Given the description of an element on the screen output the (x, y) to click on. 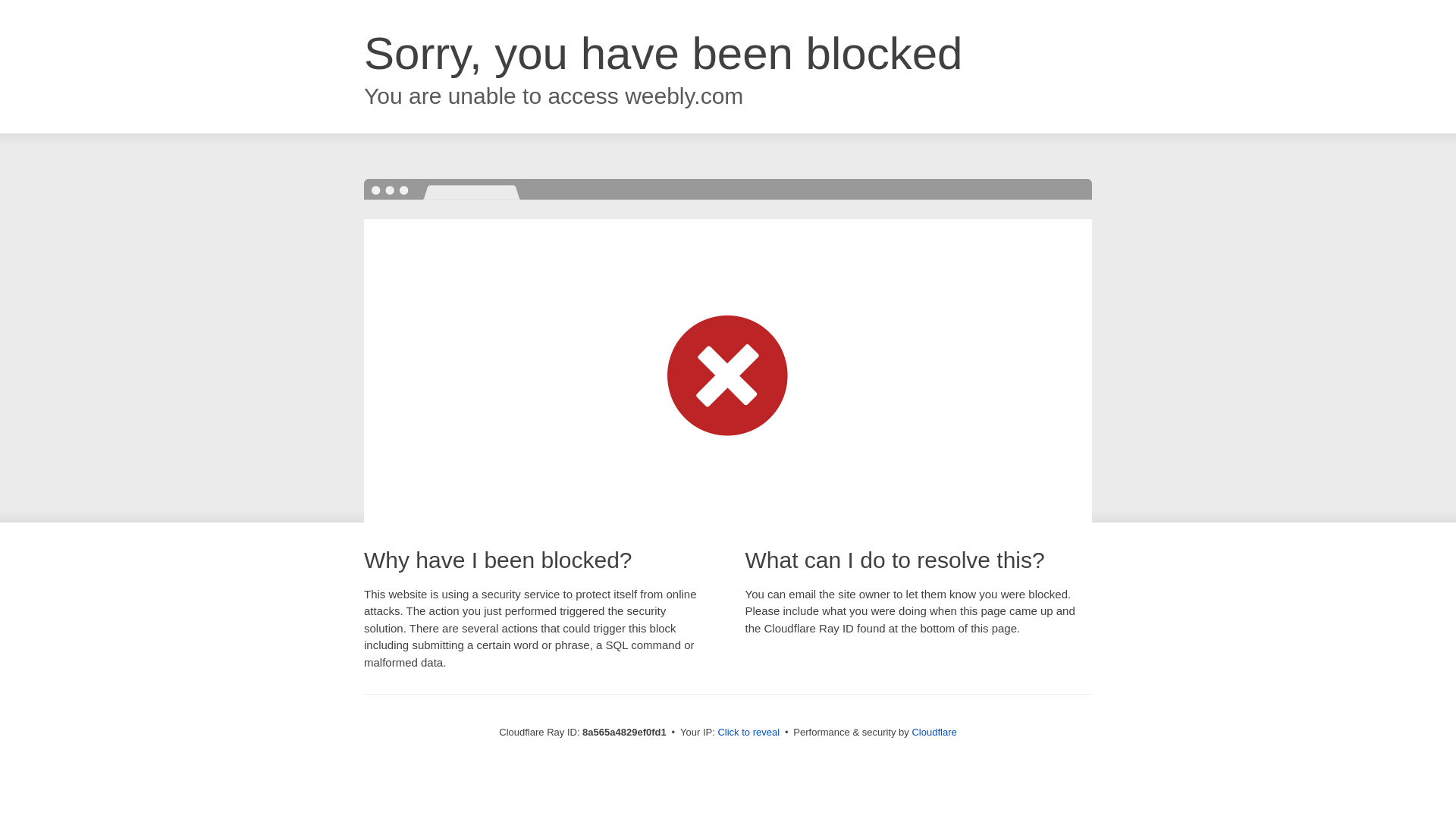
Cloudflare (933, 731)
Click to reveal (747, 732)
